Given the description of an element on the screen output the (x, y) to click on. 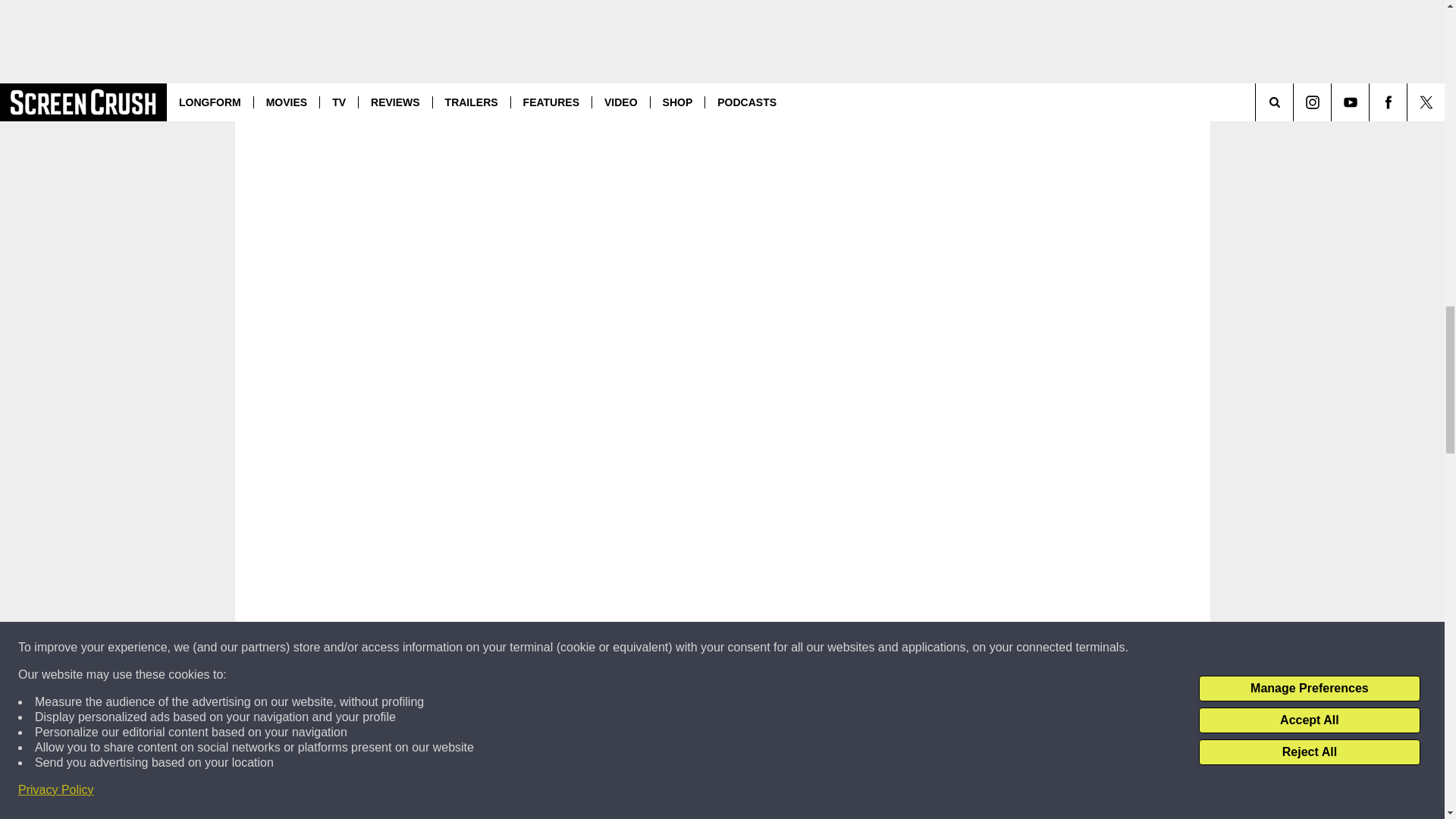
join the Arrow and Flash universe full-time (454, 2)
